Given the description of an element on the screen output the (x, y) to click on. 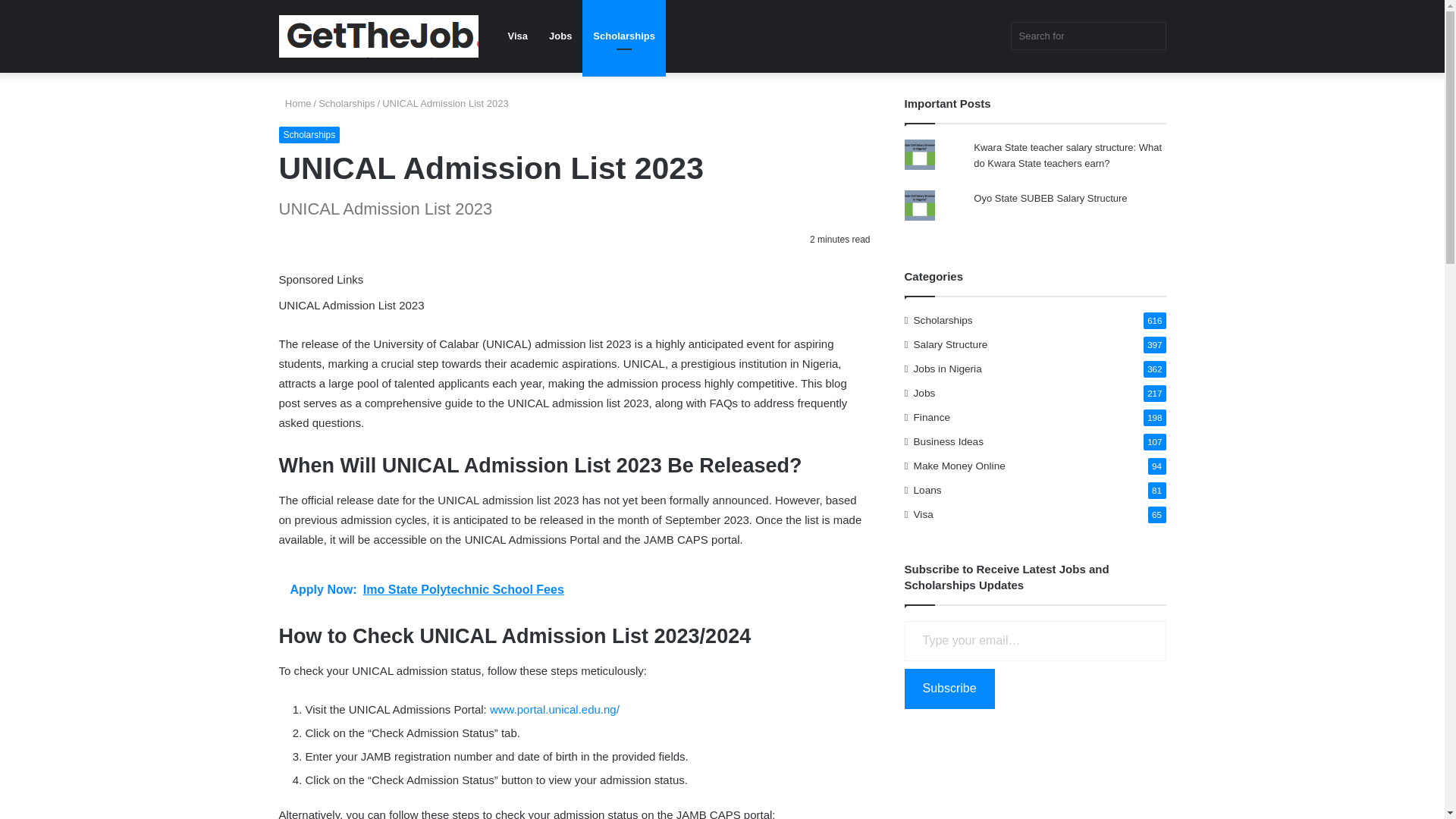
GetTheJob (379, 36)
Scholarships (309, 134)
Scholarships (623, 36)
Search for (1088, 35)
Apply Now:  Imo State Polytechnic School Fees (574, 589)
Scholarships (346, 102)
Home (295, 102)
